Given the description of an element on the screen output the (x, y) to click on. 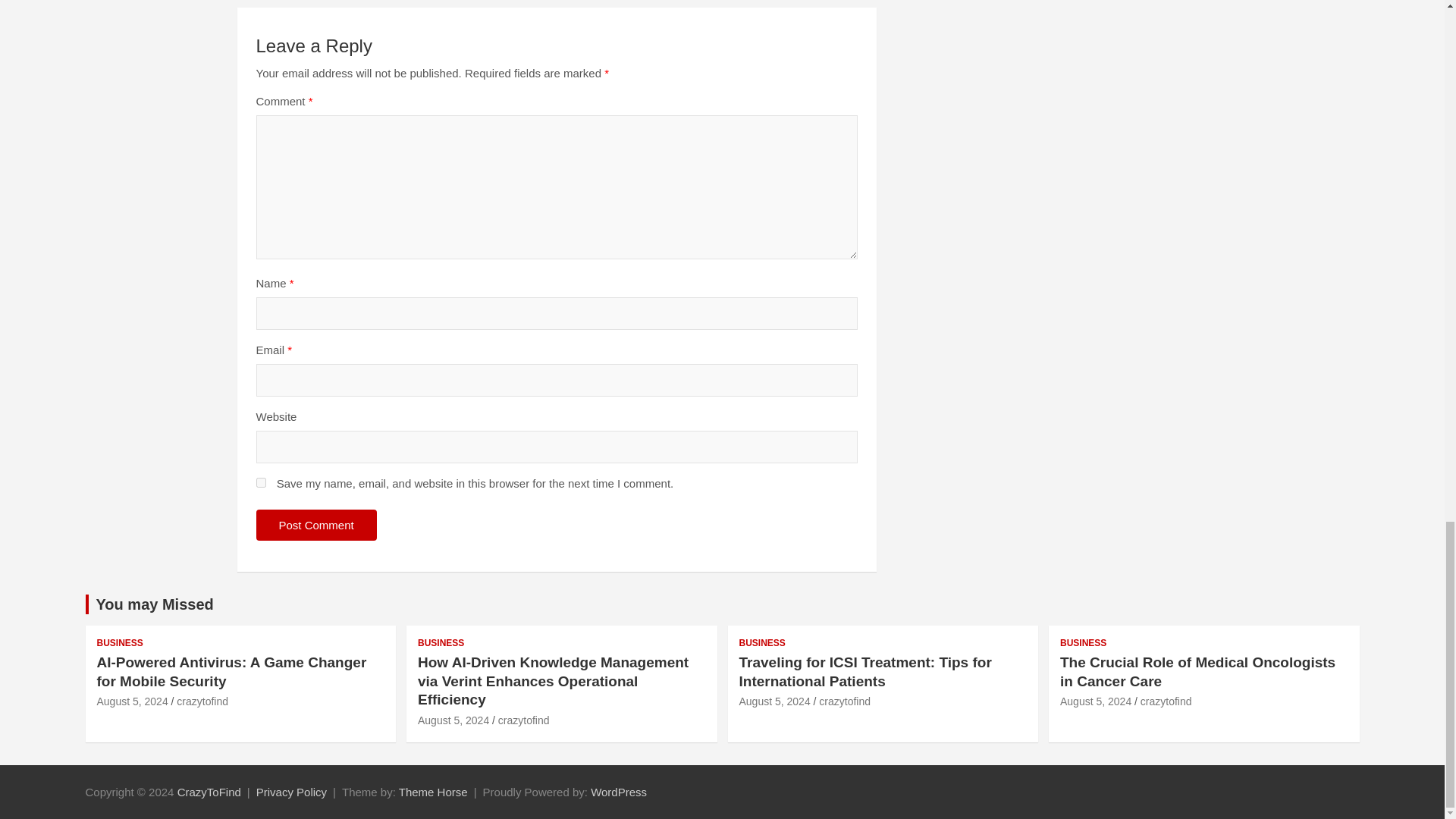
WordPress (618, 791)
AI-Powered Antivirus: A Game Changer for Mobile Security (132, 701)
yes (261, 482)
The Crucial Role of Medical Oncologists in Cancer Care (1095, 701)
Theme Horse (432, 791)
You may Missed (154, 604)
Post Comment (316, 524)
Post Comment (316, 524)
